Given the description of an element on the screen output the (x, y) to click on. 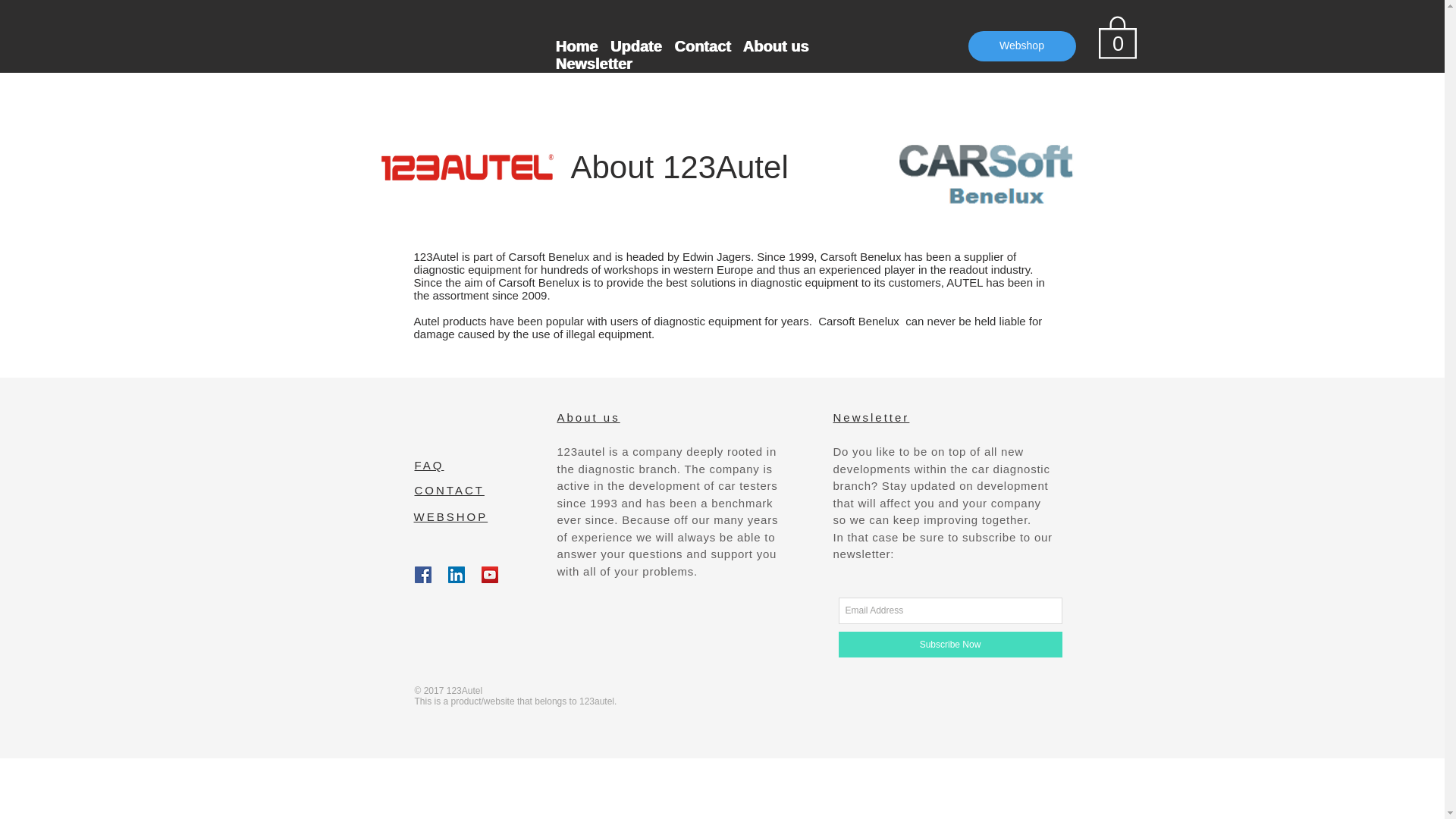
carsoft-logo.png (994, 167)
Subscribe Now (950, 644)
Contact (702, 45)
About us (776, 45)
Update (636, 45)
Newsletter (870, 417)
Newsletter (592, 63)
Webshop (1021, 46)
Home (575, 45)
About us (588, 417)
